Given the description of an element on the screen output the (x, y) to click on. 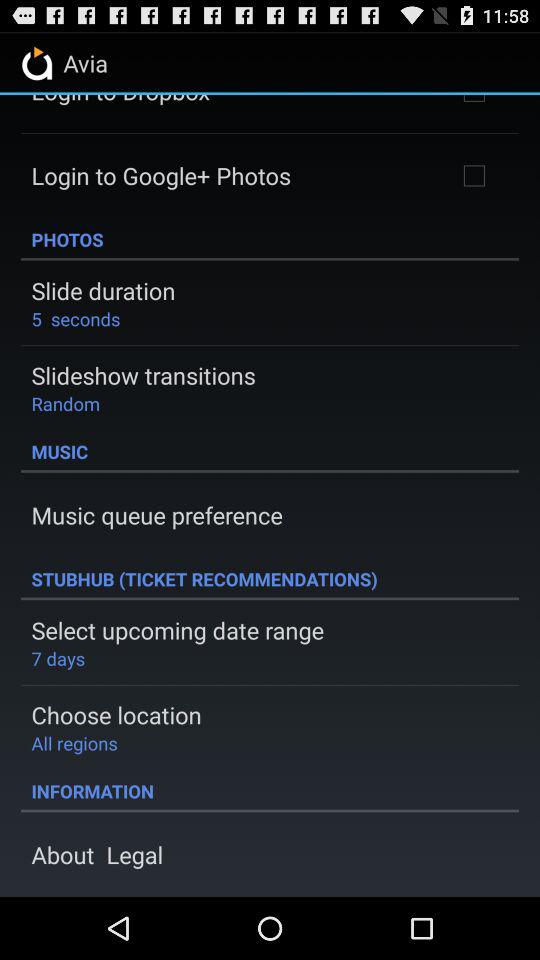
launch random app (65, 403)
